Given the description of an element on the screen output the (x, y) to click on. 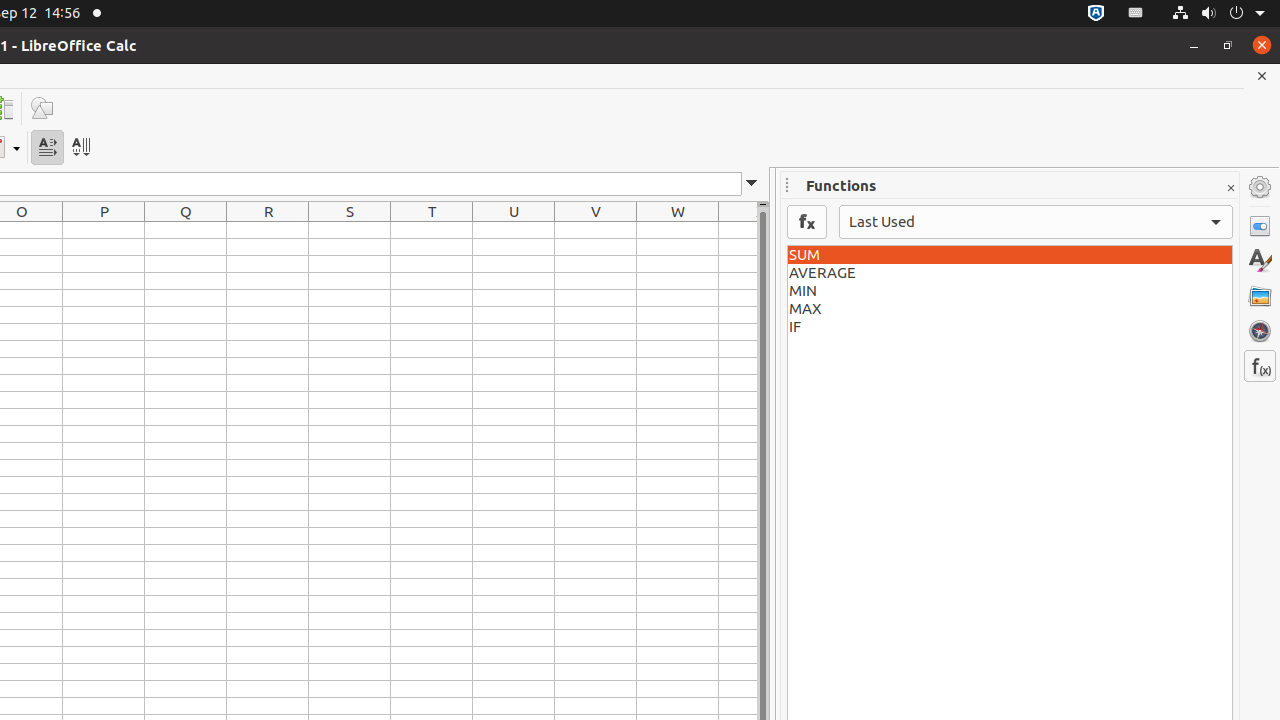
Properties Element type: radio-button (1260, 226)
IF Element type: list-item (1010, 327)
System Element type: menu (1218, 13)
W1 Element type: table-cell (678, 230)
R1 Element type: table-cell (268, 230)
